Given the description of an element on the screen output the (x, y) to click on. 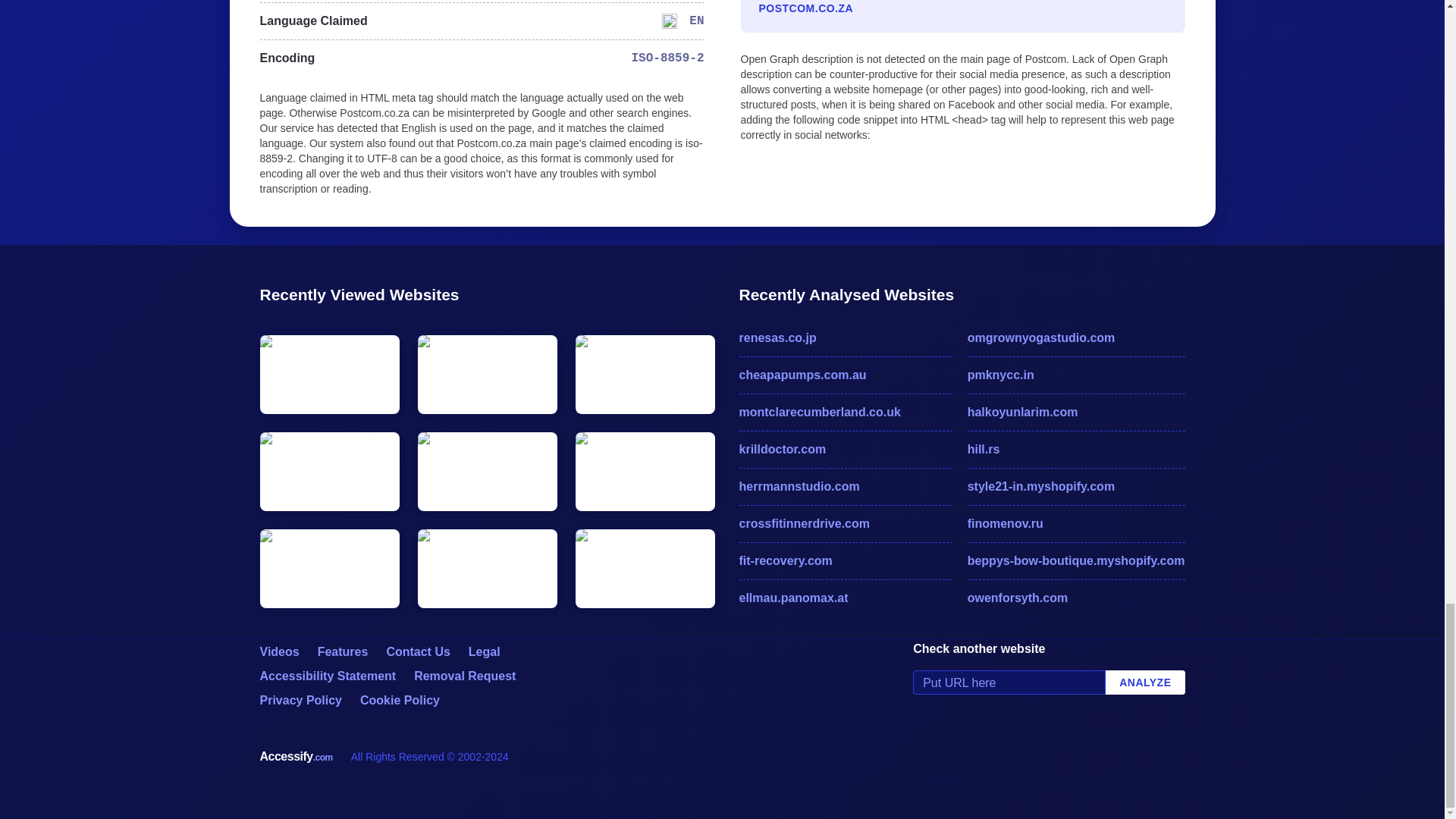
finomenov.ru (1076, 524)
Legal (484, 651)
hill.rs (1076, 449)
Screencasts: video tutorials and guides (278, 651)
fit-recovery.com (845, 561)
herrmannstudio.com (845, 486)
montclarecumberland.co.uk (845, 412)
crossfitinnerdrive.com (845, 524)
renesas.co.jp (845, 338)
omgrownyogastudio.com (1076, 338)
Features (342, 651)
style21-in.myshopify.com (1076, 486)
beppys-bow-boutique.myshopify.com (1076, 561)
cheapapumps.com.au (845, 375)
